Given the description of an element on the screen output the (x, y) to click on. 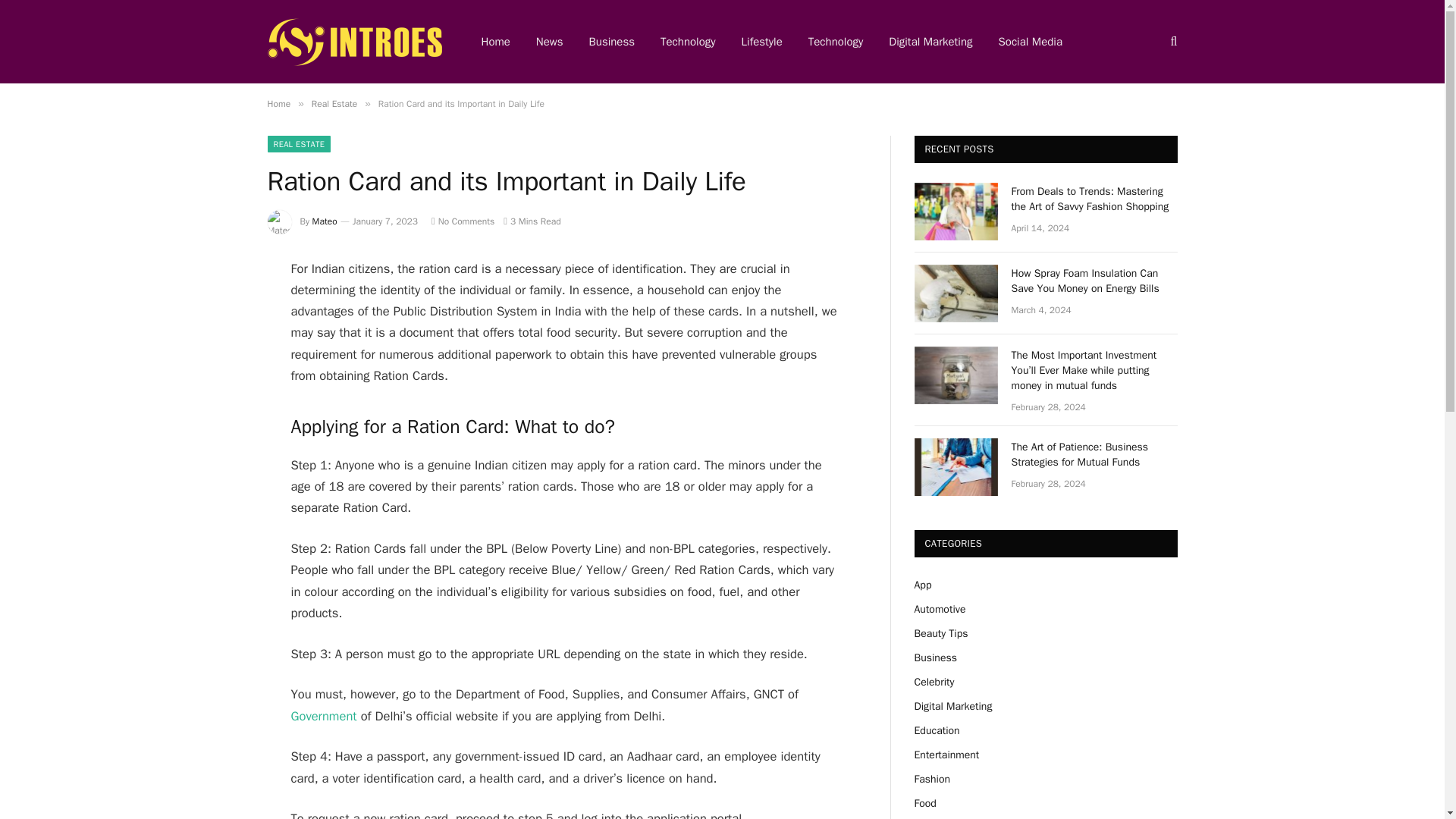
Posts by Mateo (325, 221)
Technology (835, 41)
Government (323, 715)
Home (277, 103)
Business (935, 657)
Mateo (325, 221)
Technology (688, 41)
Social Media (1030, 41)
Lifestyle (761, 41)
Search (1172, 41)
No Comments (462, 221)
Celebrity (934, 681)
Digital Marketing (953, 706)
